Given the description of an element on the screen output the (x, y) to click on. 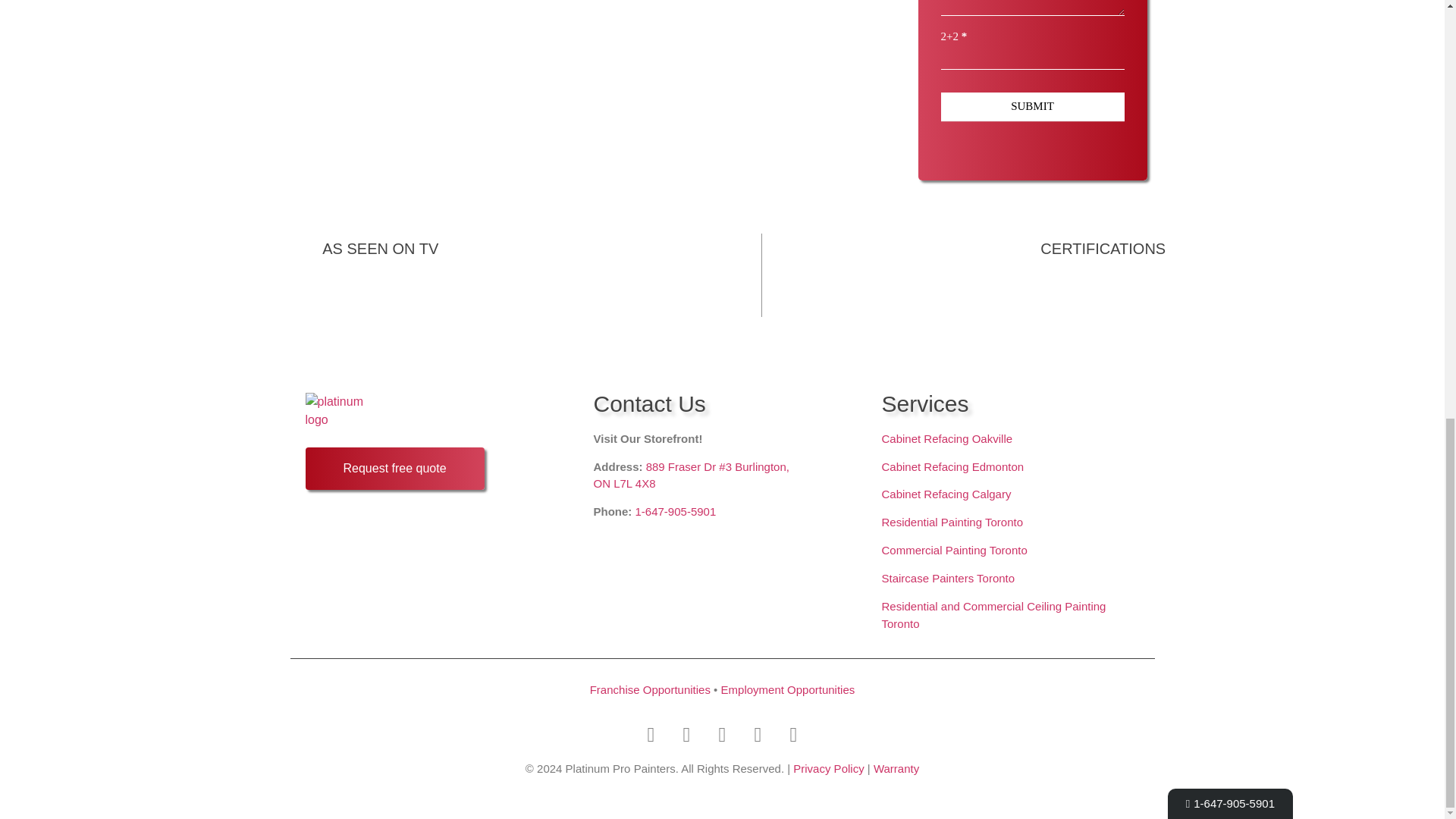
SUBMIT (1032, 106)
